Given the description of an element on the screen output the (x, y) to click on. 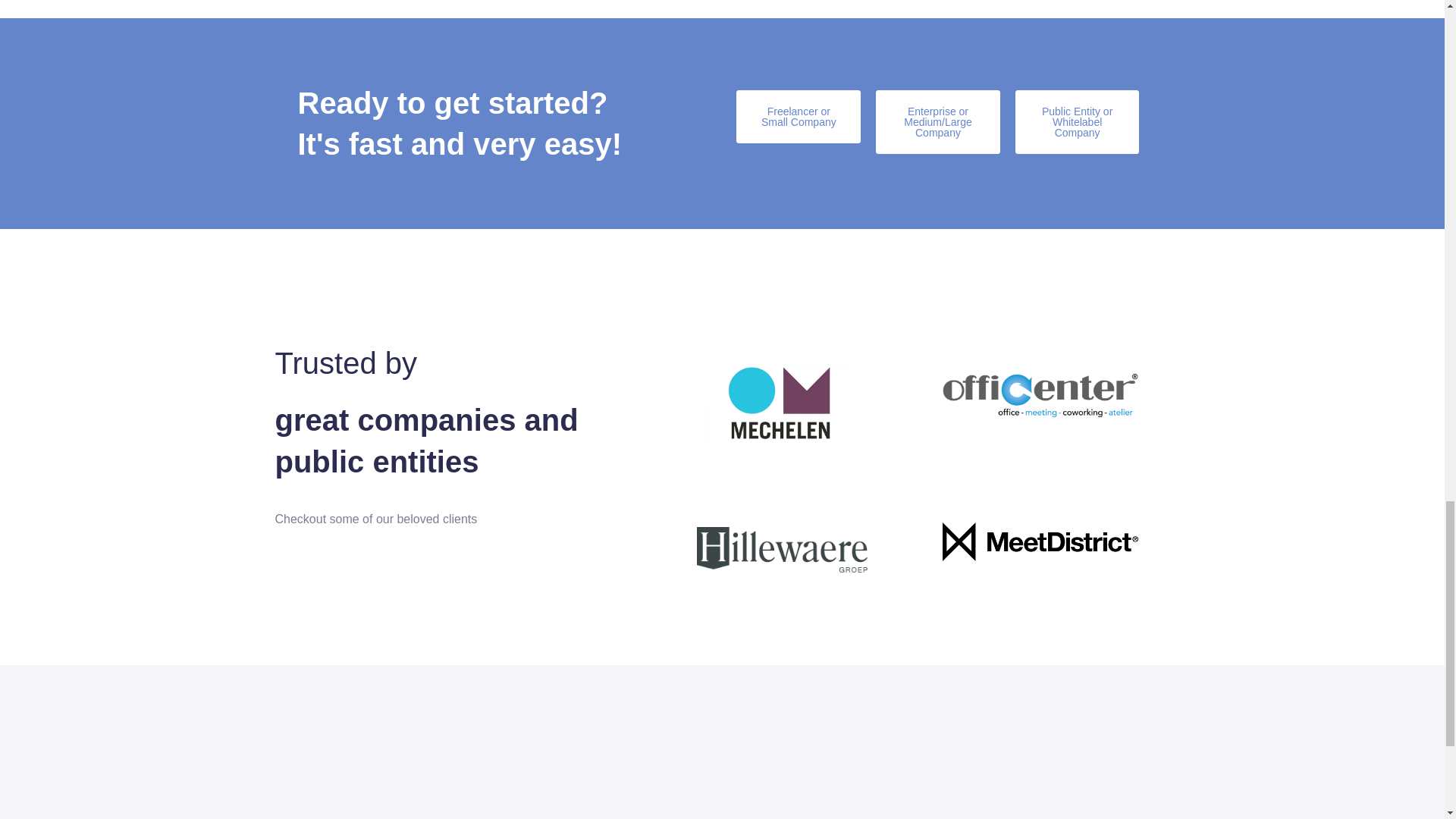
Freelancer or Small Company (798, 116)
Public Entity or Whitelabel Company (1077, 121)
